Given the description of an element on the screen output the (x, y) to click on. 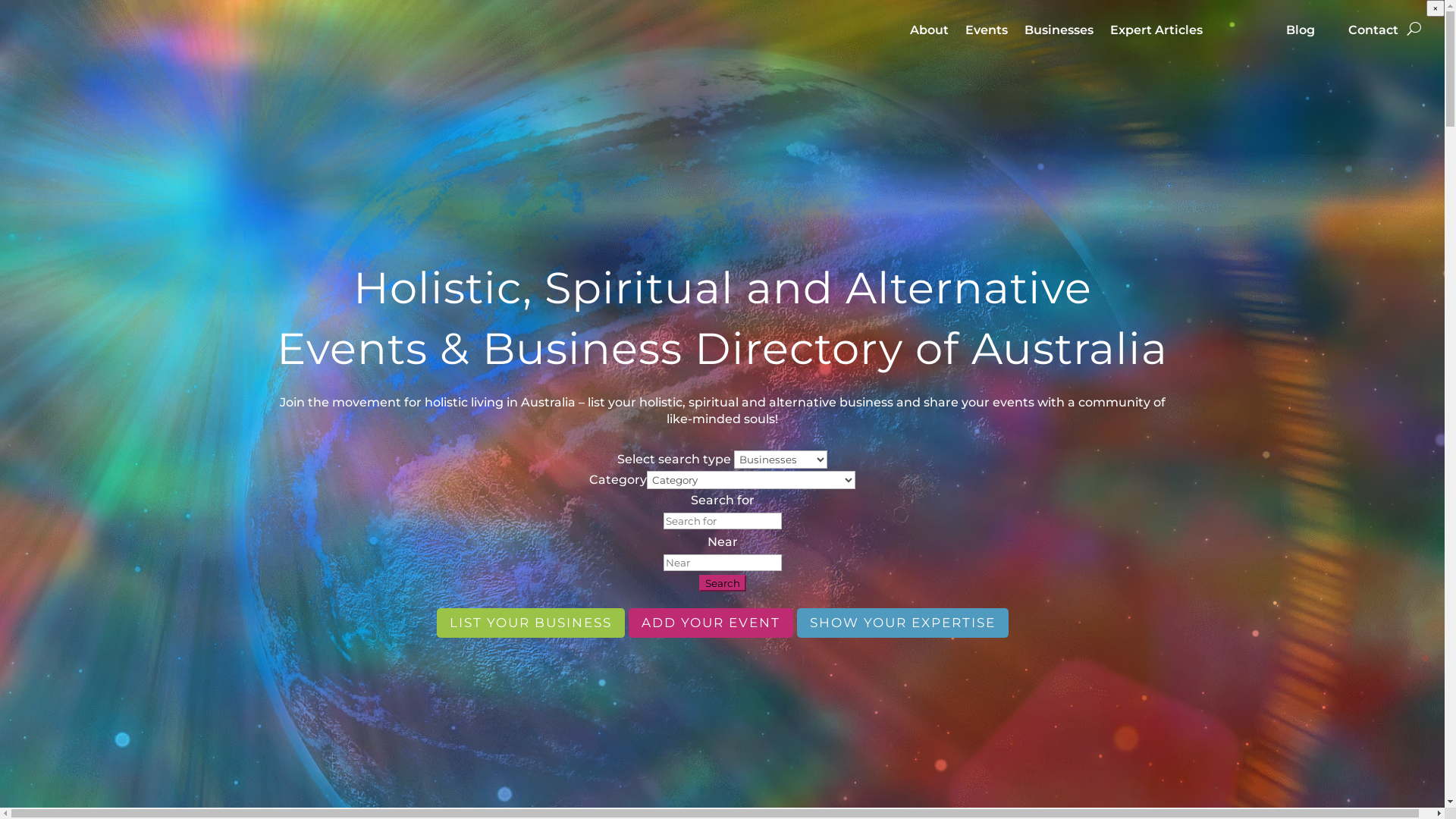
About Element type: text (929, 41)
Expert Articles Element type: text (1156, 41)
Search Element type: text (722, 582)
LIST YOUR BUSINESS Element type: text (530, 622)
Businesses Element type: text (1058, 41)
ADD YOUR EVENT Element type: text (709, 622)
Events Element type: text (986, 41)
Blog Element type: text (1300, 41)
Contact Element type: text (1373, 41)
SHOW YOUR EXPERTISE Element type: text (901, 622)
